Given the description of an element on the screen output the (x, y) to click on. 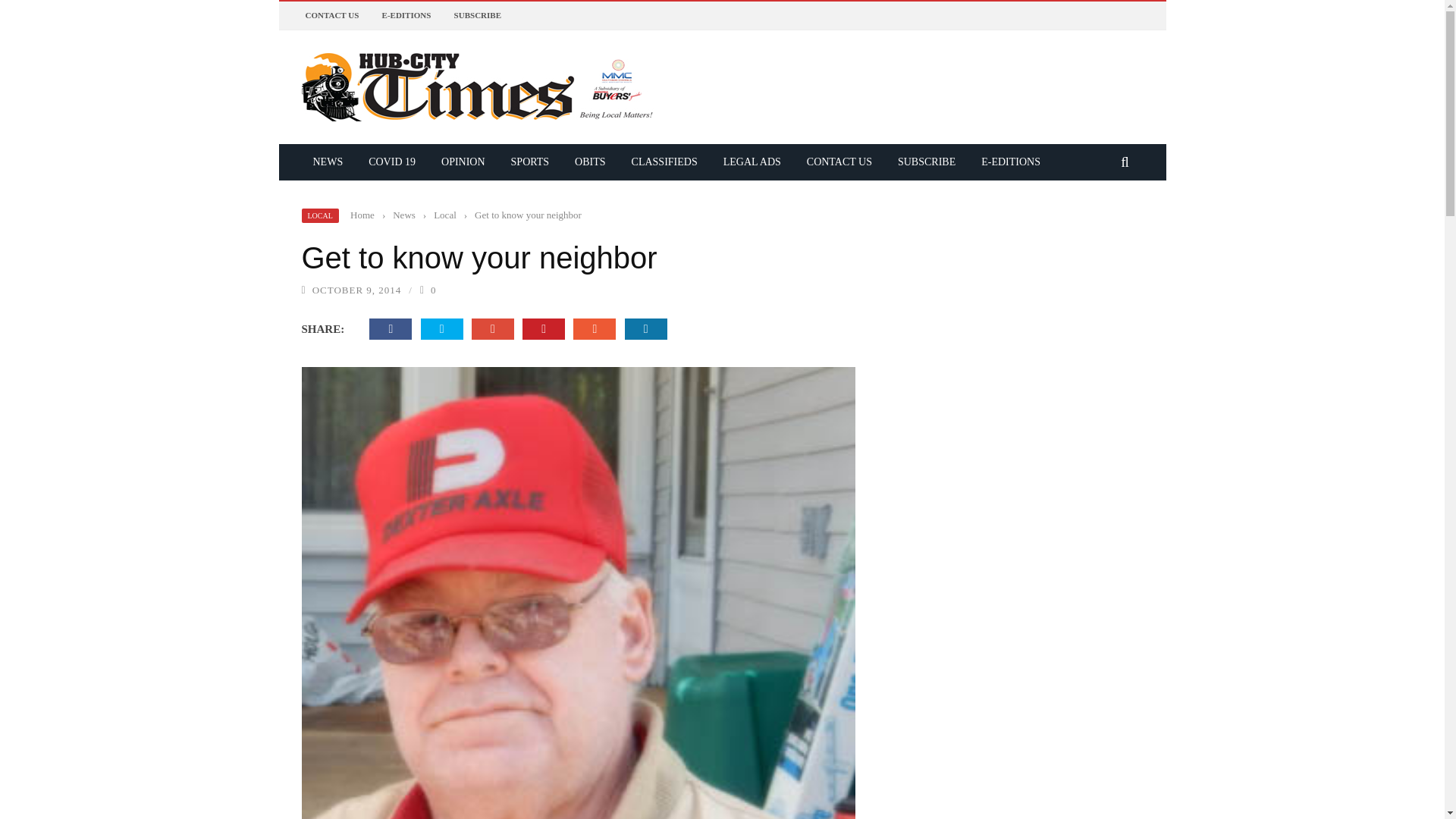
COVID 19 (391, 161)
CONTACT US (838, 161)
E-EDITIONS (1010, 161)
SPORTS (529, 161)
OBITS (589, 161)
LEGAL ADS (751, 161)
SUBSCRIBE (926, 161)
E-EDITIONS (405, 14)
SUBSCRIBE (477, 14)
CONTACT US (331, 14)
NEWS (328, 161)
OPINION (462, 161)
CLASSIFIEDS (664, 161)
